Given the description of an element on the screen output the (x, y) to click on. 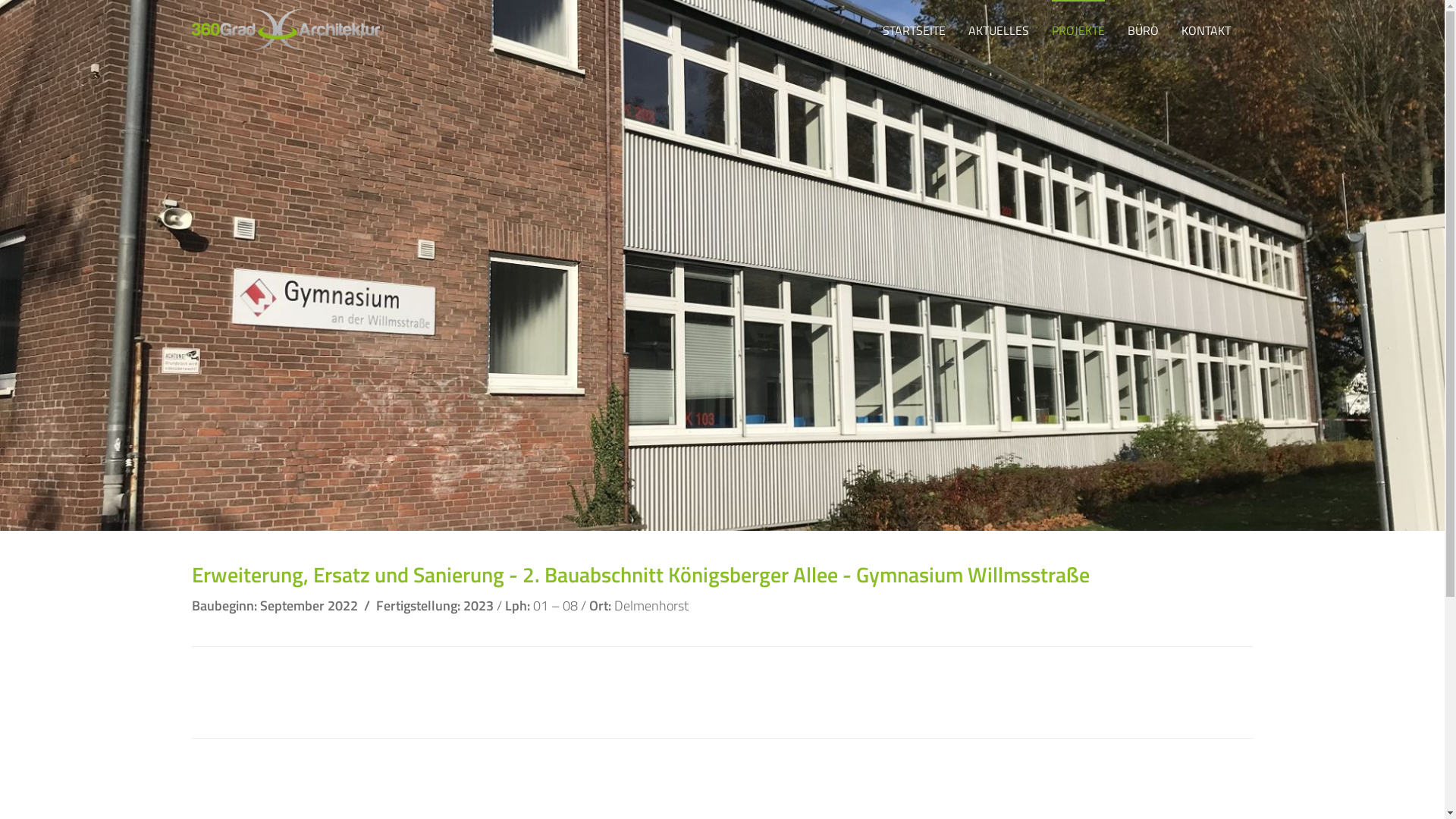
STARTSEITE Element type: text (913, 30)
AKTUELLES Element type: text (997, 30)
PROJEKTE Element type: text (1077, 30)
KONTAKT Element type: text (1205, 30)
